Given the description of an element on the screen output the (x, y) to click on. 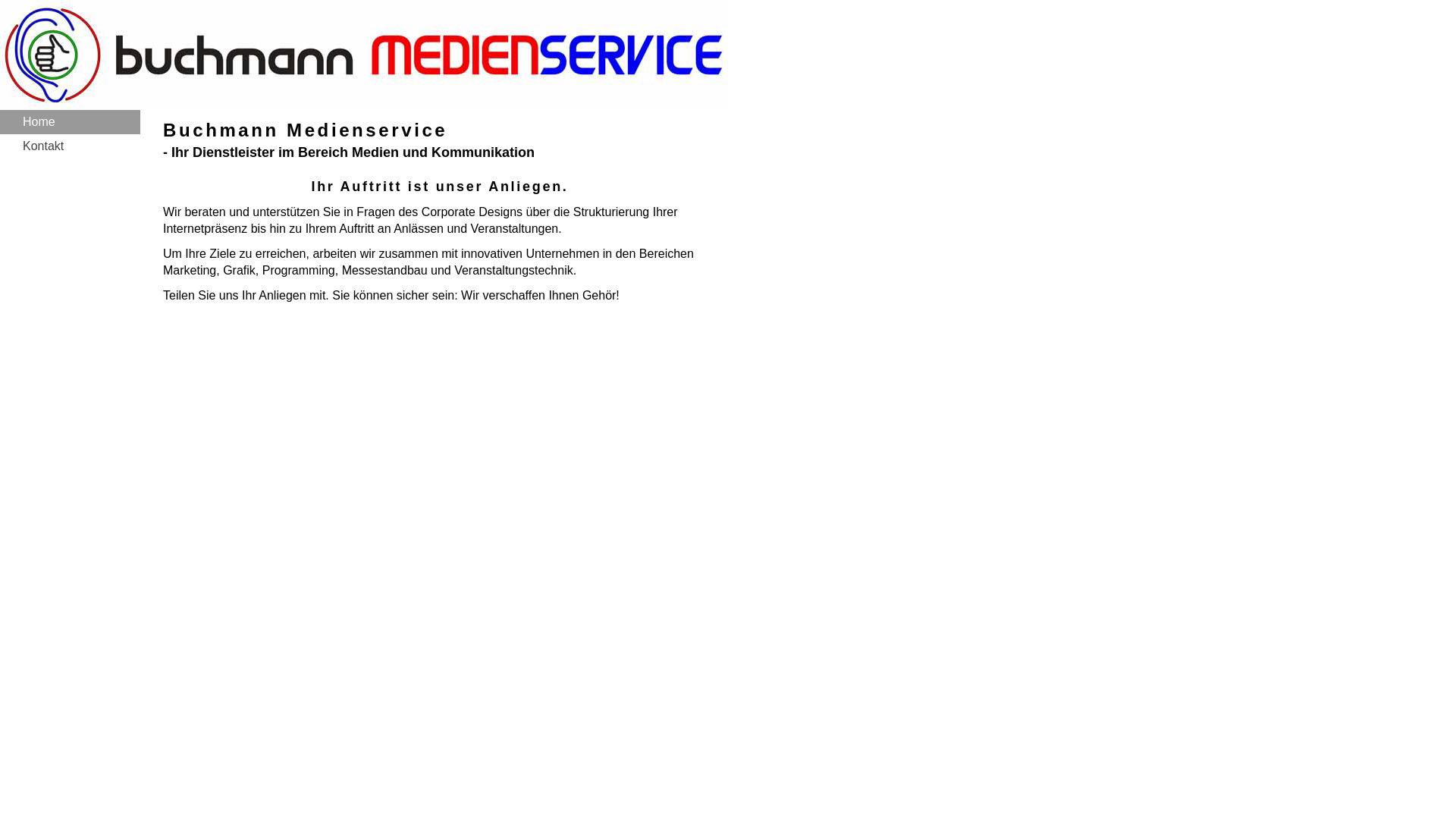
Home Element type: text (70, 121)
Kontakt Element type: text (70, 146)
